Given the description of an element on the screen output the (x, y) to click on. 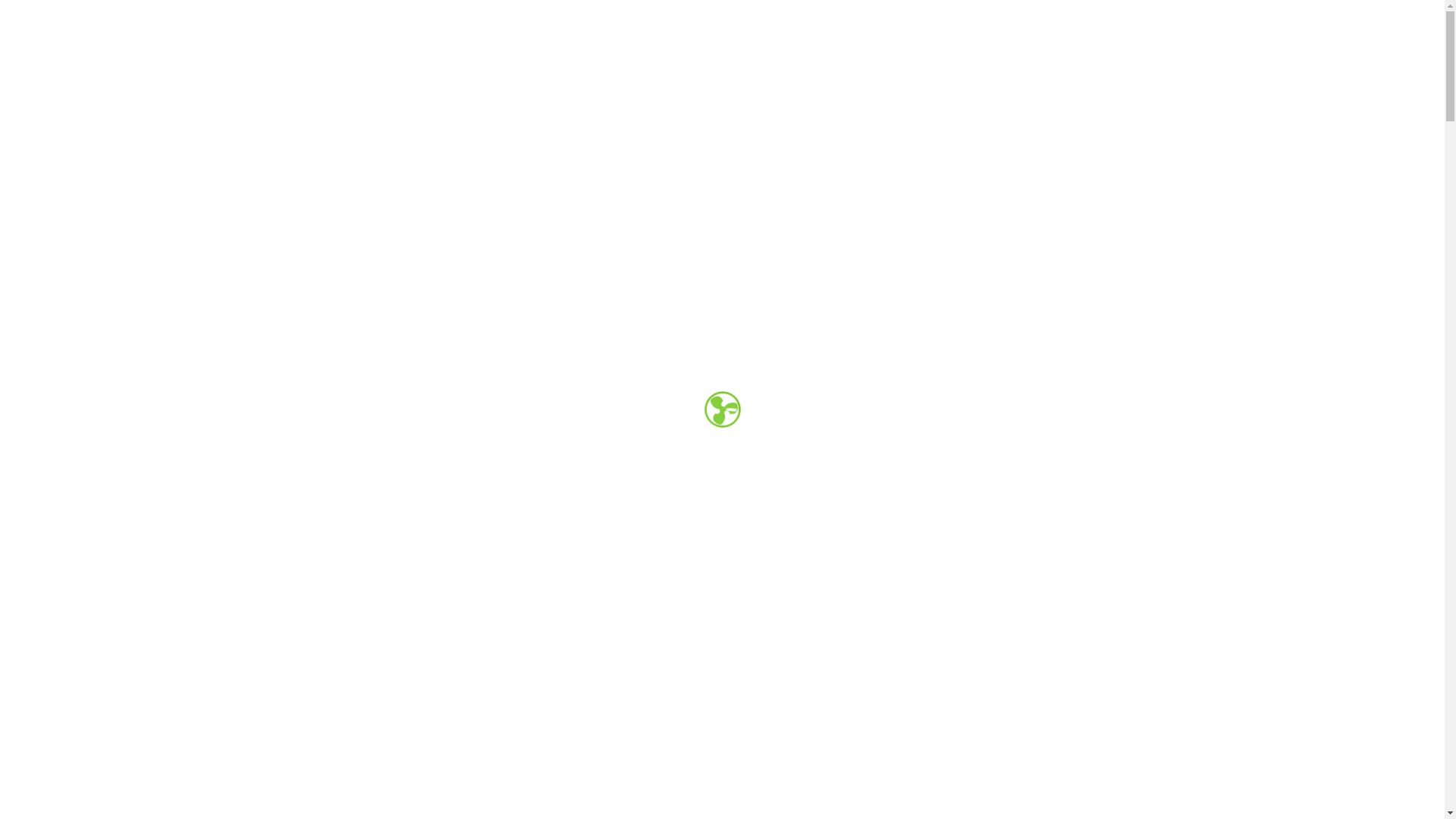
m-ecooil@mail.ru Element type: text (746, 57)
+375(44)5701704, +375(33)6585029, +375(222)746330 Element type: text (1014, 56)
